Given the description of an element on the screen output the (x, y) to click on. 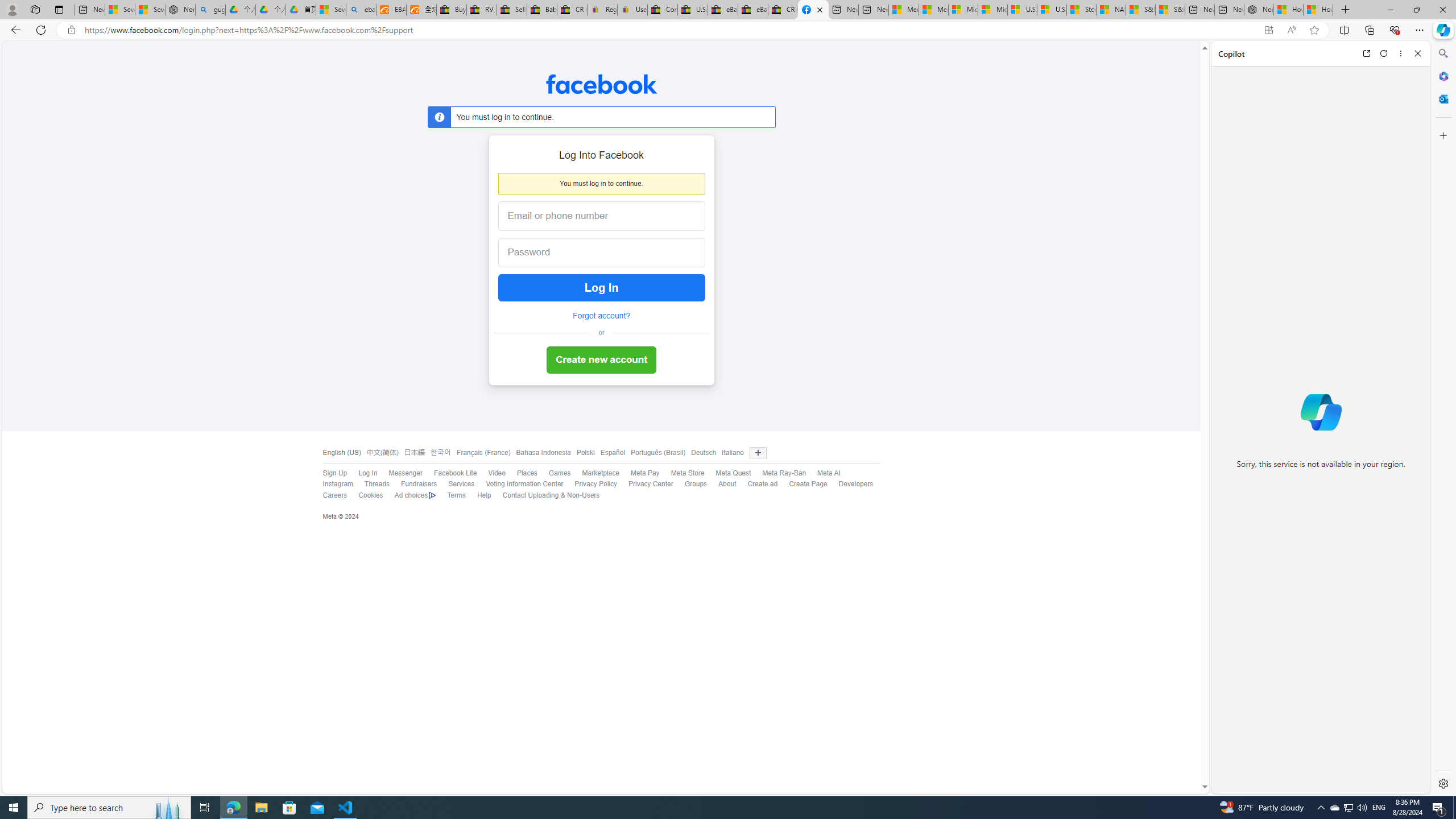
Meta AI (823, 473)
Careers (334, 494)
Show more languages (757, 452)
S&P 500, Nasdaq end lower, weighed by Nvidia dip | Watch (1169, 9)
Privacy Policy (596, 483)
Contact Uploading & Non-Users (544, 495)
